Given the description of an element on the screen output the (x, y) to click on. 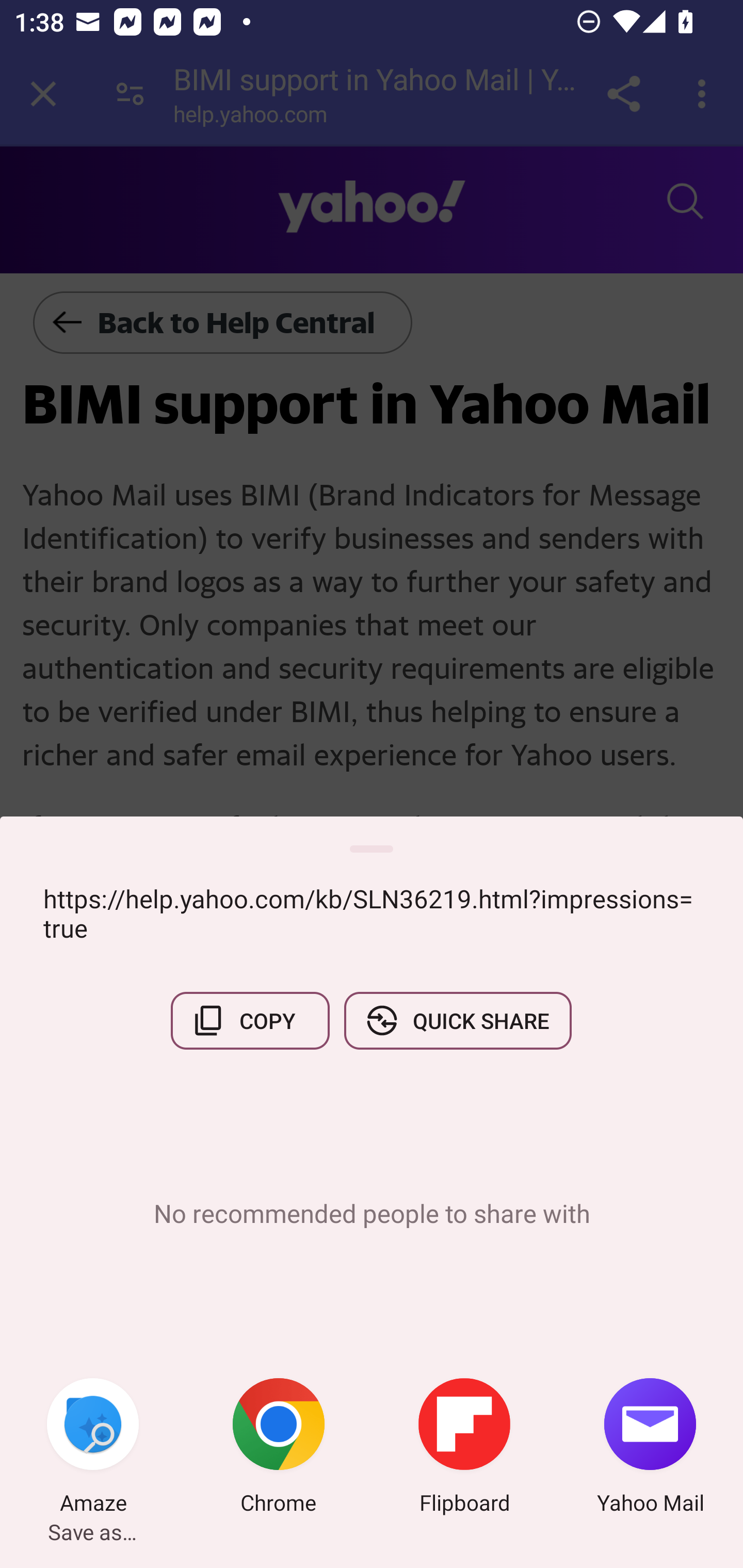
COPY (249, 1020)
QUICK SHARE (457, 1020)
Amaze Save as… (92, 1448)
Chrome (278, 1448)
Flipboard (464, 1448)
Yahoo Mail (650, 1448)
